Given the description of an element on the screen output the (x, y) to click on. 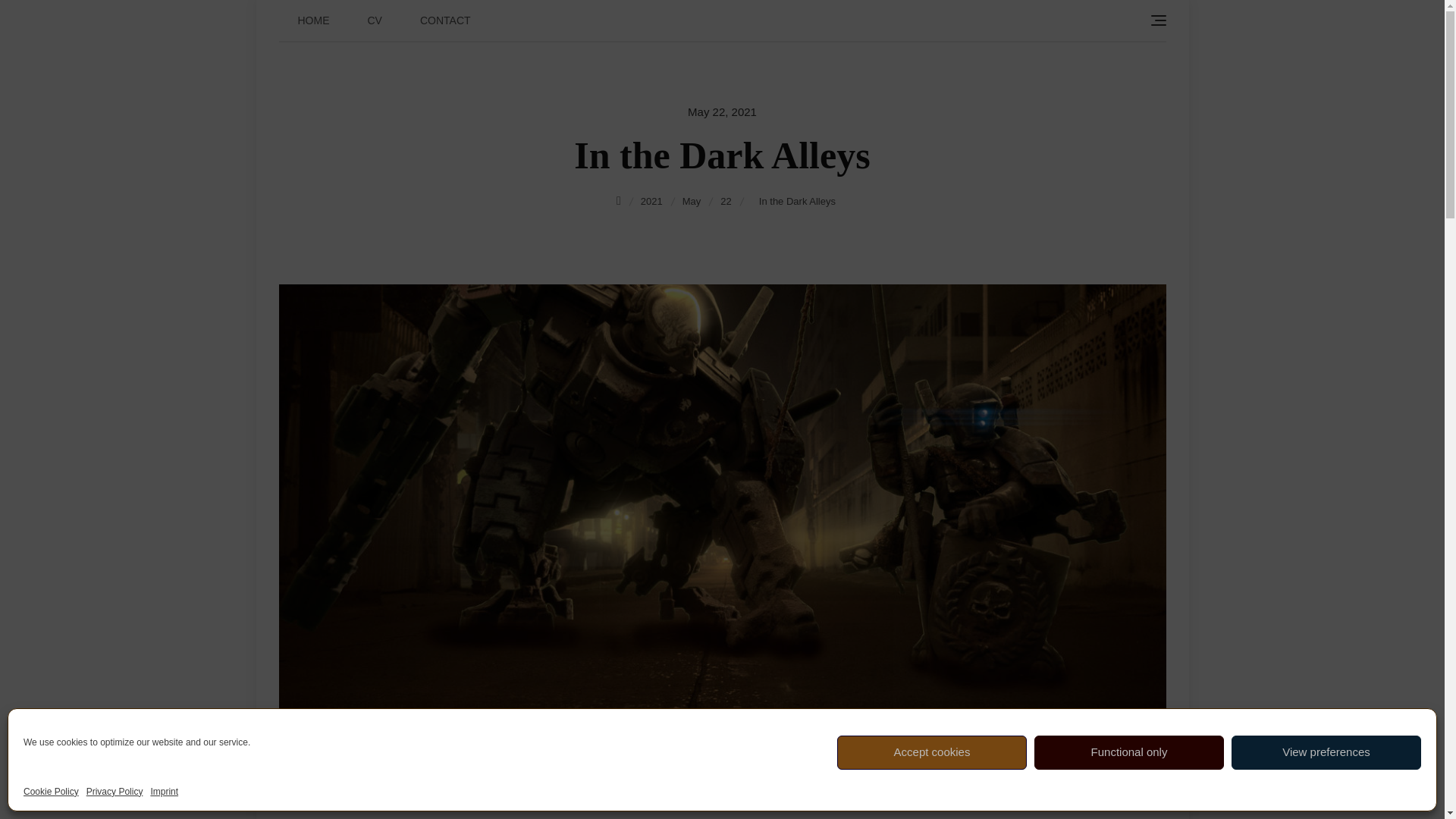
May 22, 2021 (722, 111)
CV (375, 20)
Cookie Policy (50, 791)
Accept cookies (931, 752)
Privacy Policy (113, 791)
HOME (314, 20)
View preferences (1326, 752)
Search (29, 18)
Imprint (163, 791)
Search (42, 15)
CONTACT (445, 20)
Functional only (1128, 752)
